Given the description of an element on the screen output the (x, y) to click on. 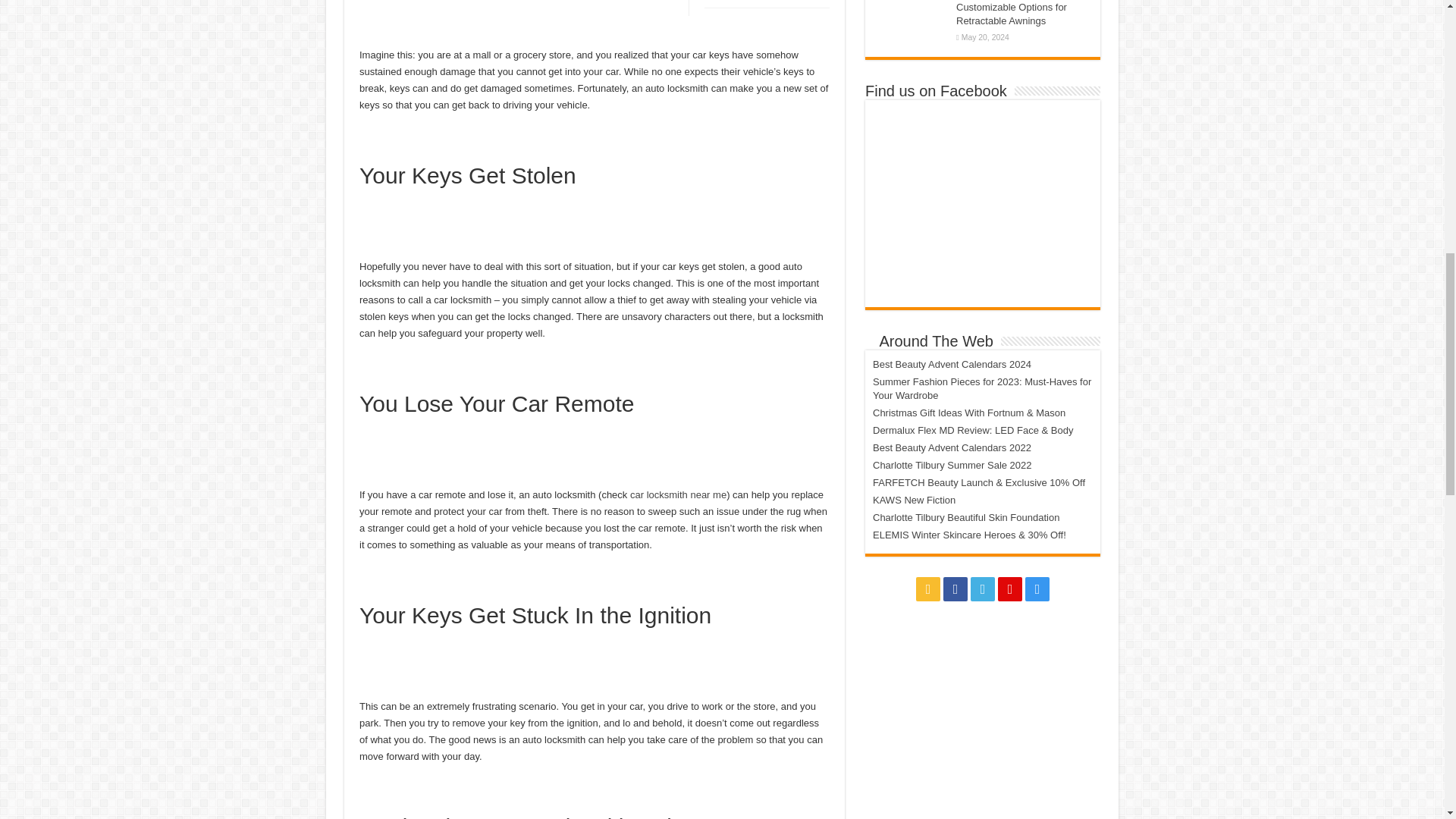
Rss (927, 589)
